Given the description of an element on the screen output the (x, y) to click on. 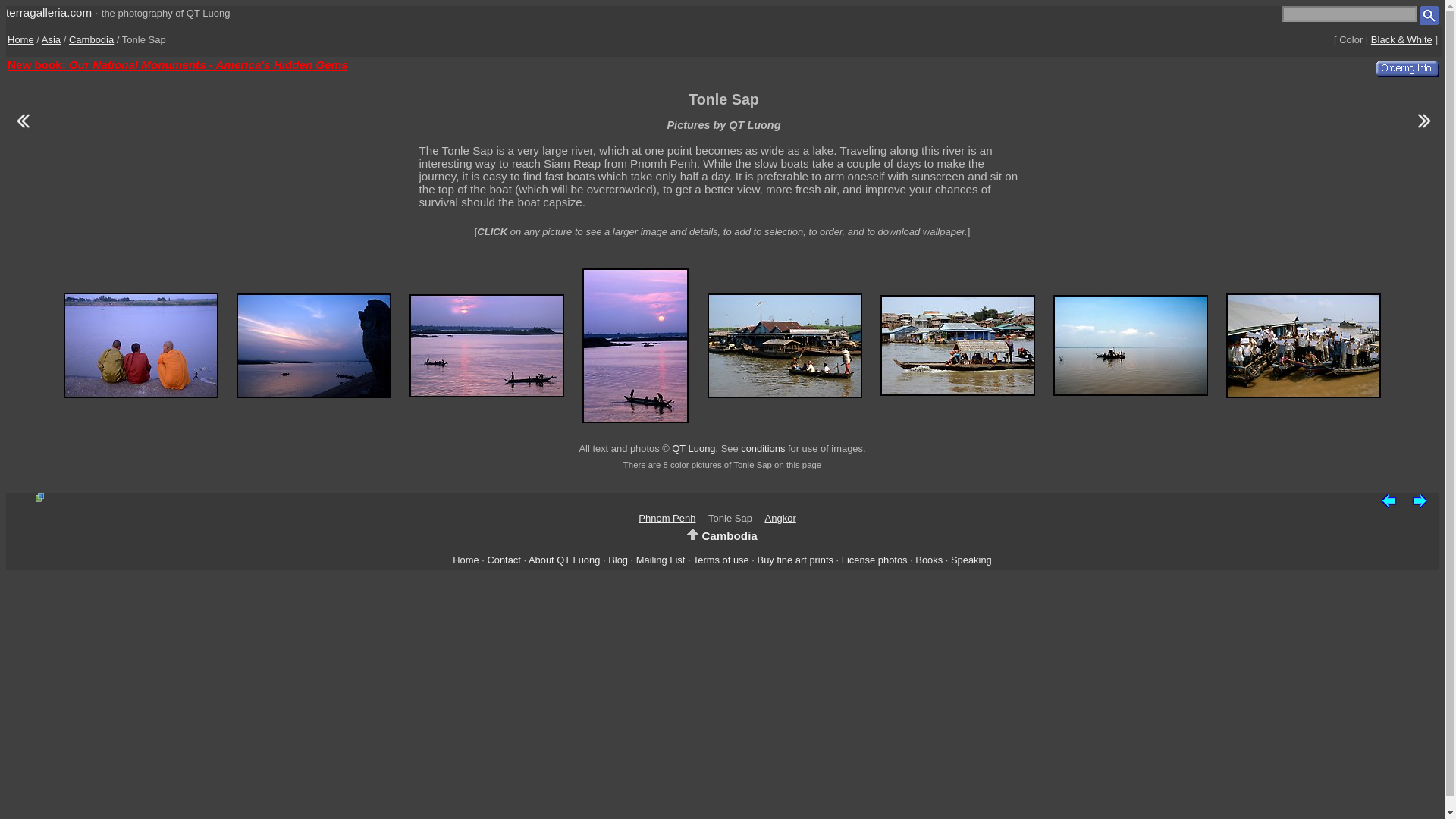
Cambodia (90, 39)
Next set of pictures: Angkor (1424, 129)
Previous set of pictures: Phnom Penh (1388, 499)
About QT Luong (563, 559)
Asia (51, 39)
New book: Our National Monuments - America's Hidden Gems (177, 64)
QT Luong (692, 448)
Contact (502, 559)
Angkor (780, 518)
Phnom Penh (667, 518)
Books (928, 559)
Next set of pictures: Angkor (1420, 499)
Home (20, 39)
License photos (874, 559)
Start full-screen slideshow or Cooliris (39, 497)
